Given the description of an element on the screen output the (x, y) to click on. 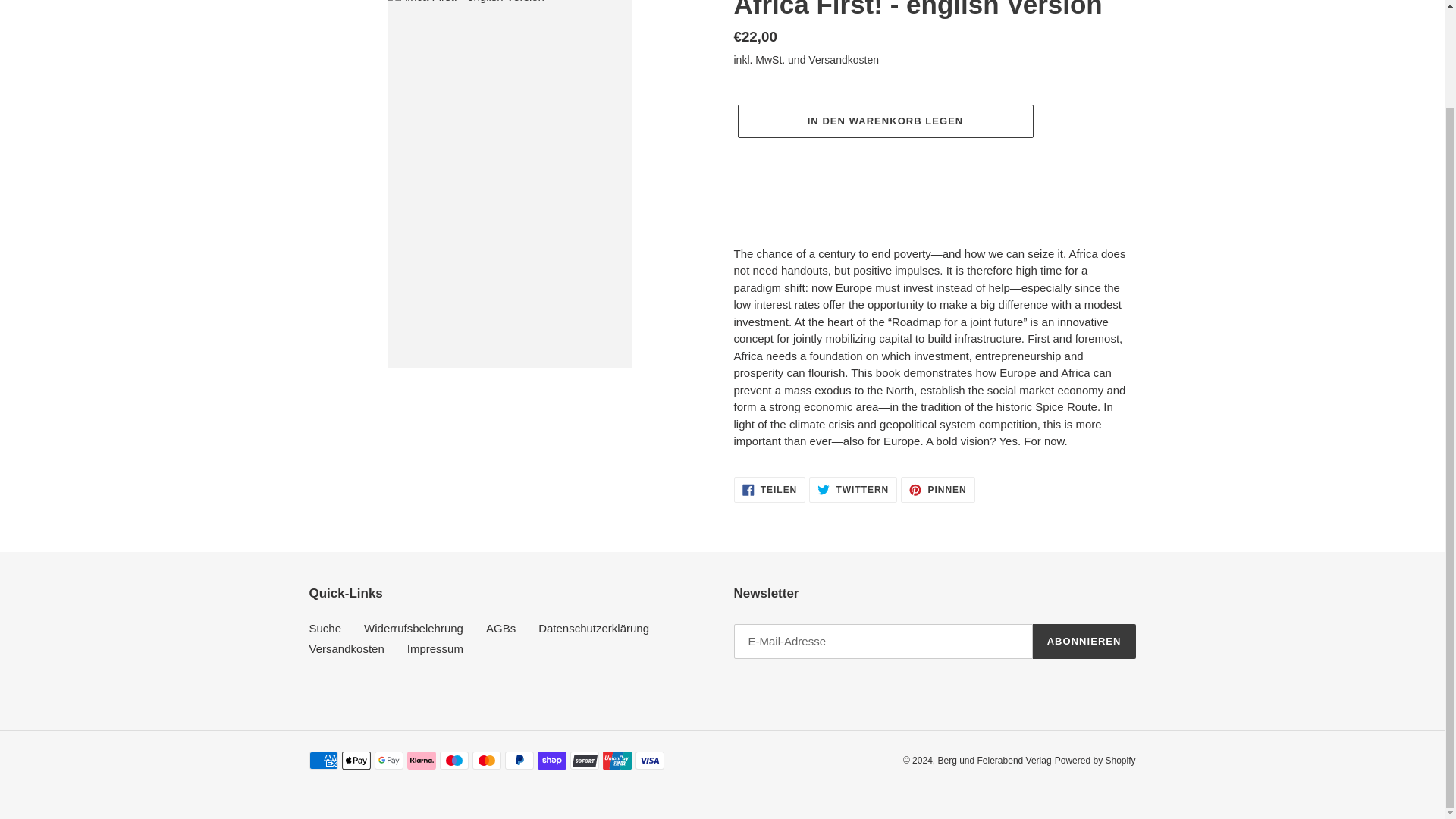
Impressum (435, 648)
ABONNIEREN (852, 489)
AGBs (1083, 641)
Berg und Feierabend Verlag (769, 489)
Versandkosten (500, 627)
Widerrufsbelehrung (994, 760)
Suche (346, 648)
Versandkosten (937, 489)
IN DEN WARENKORB LEGEN (413, 627)
